Given the description of an element on the screen output the (x, y) to click on. 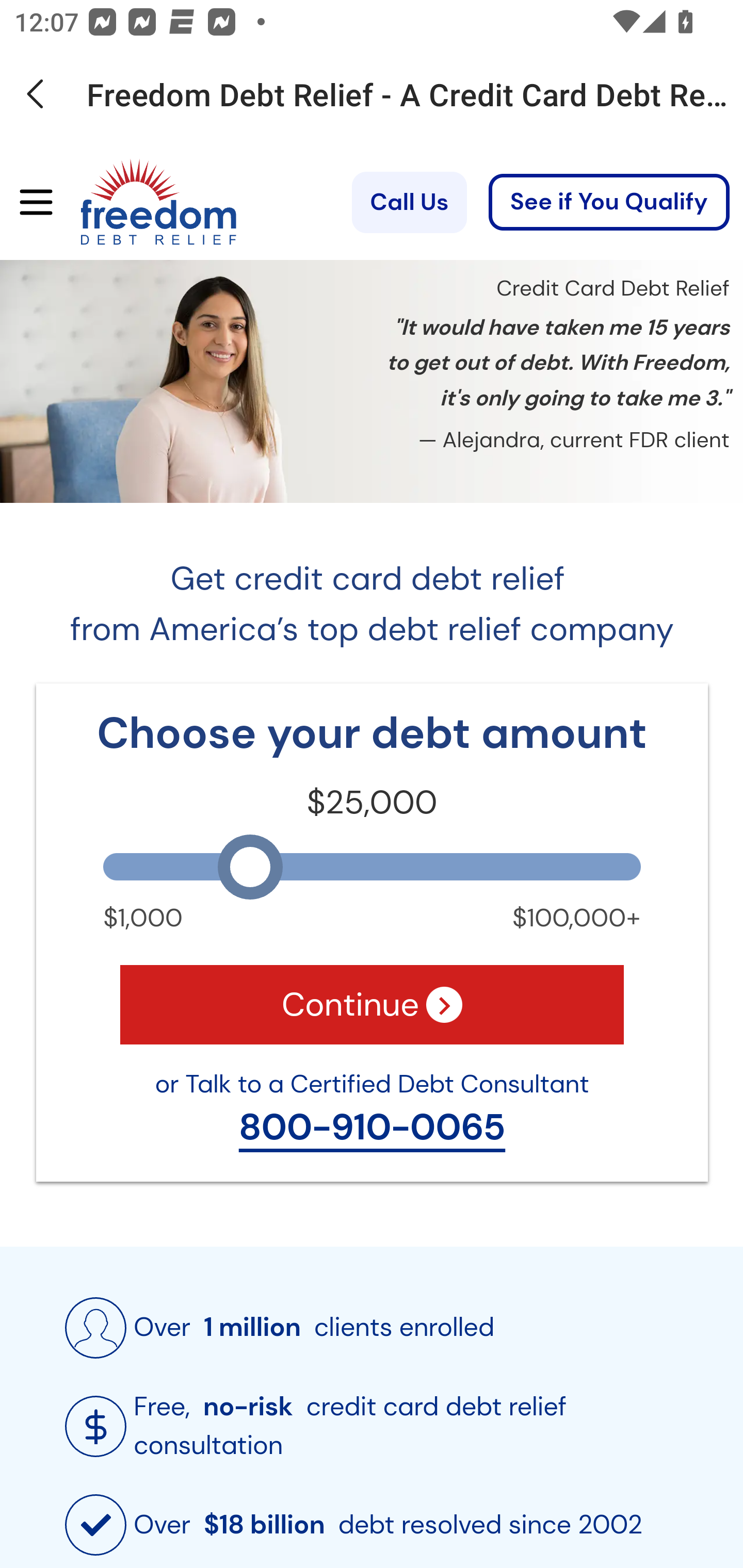
Freedom Debt Relief (130, 202)
Call Us (408, 202)
See if You Qualify (609, 203)
menu toggle (28, 202)
25000.0 (371, 866)
Continue (371, 1004)
phone number 800-910-0065 (371, 1127)
